Given the description of an element on the screen output the (x, y) to click on. 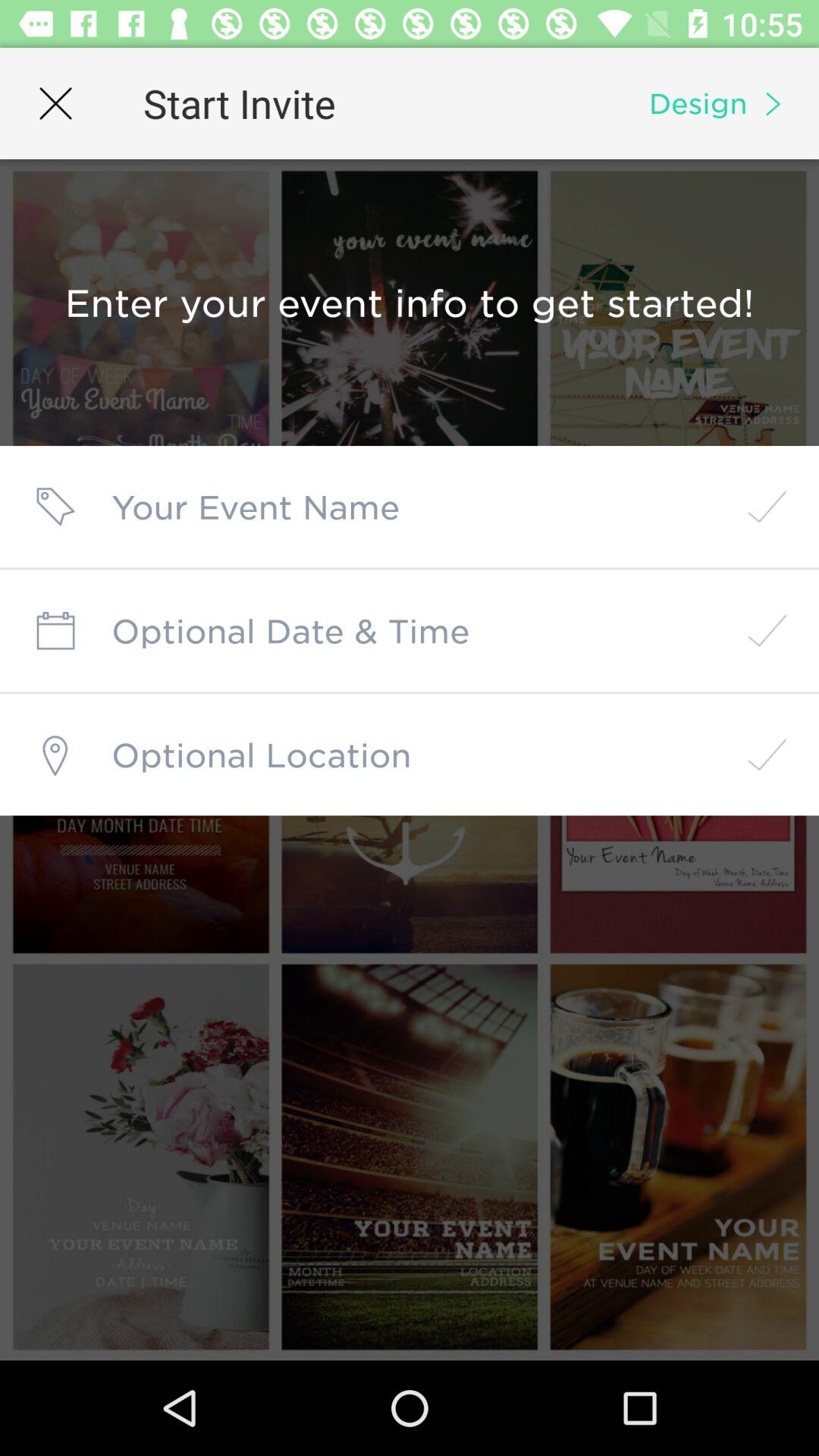
press the icon to the left of start invite (55, 103)
